Given the description of an element on the screen output the (x, y) to click on. 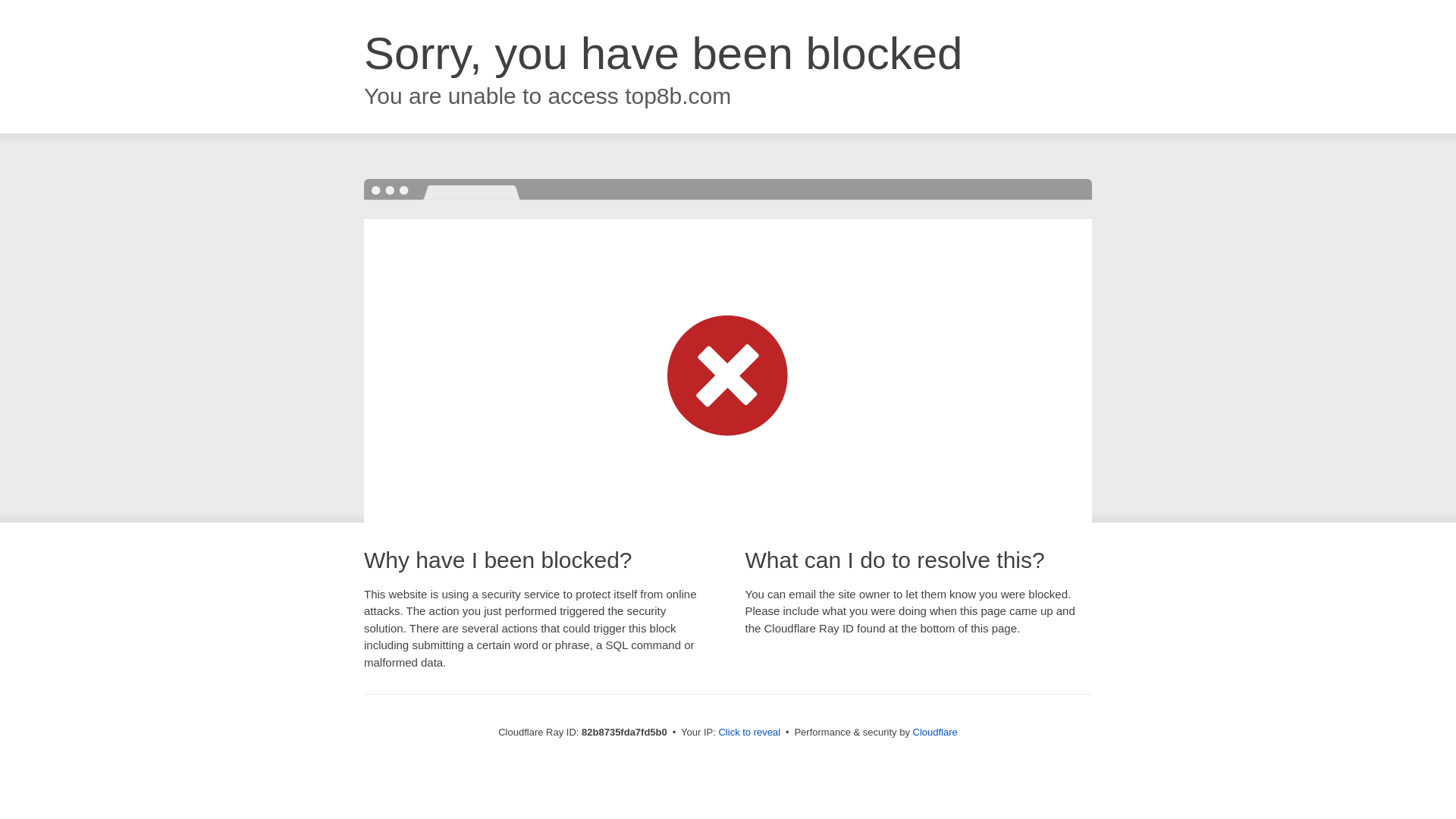
Click to reveal Element type: text (749, 732)
Cloudflare Element type: text (935, 731)
